Given the description of an element on the screen output the (x, y) to click on. 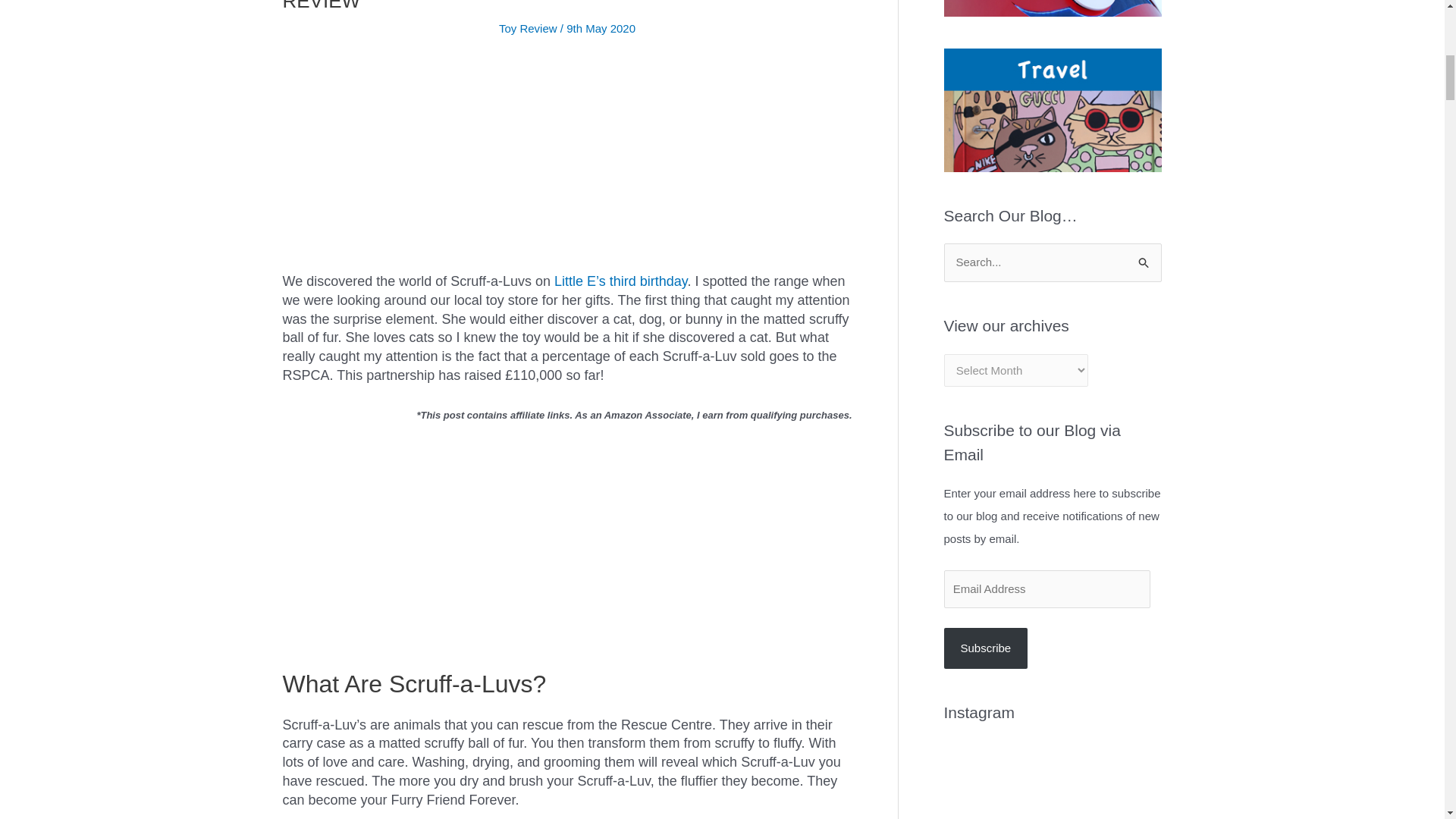
Search (1143, 258)
Advertisement (566, 165)
Search (1143, 258)
